Given the description of an element on the screen output the (x, y) to click on. 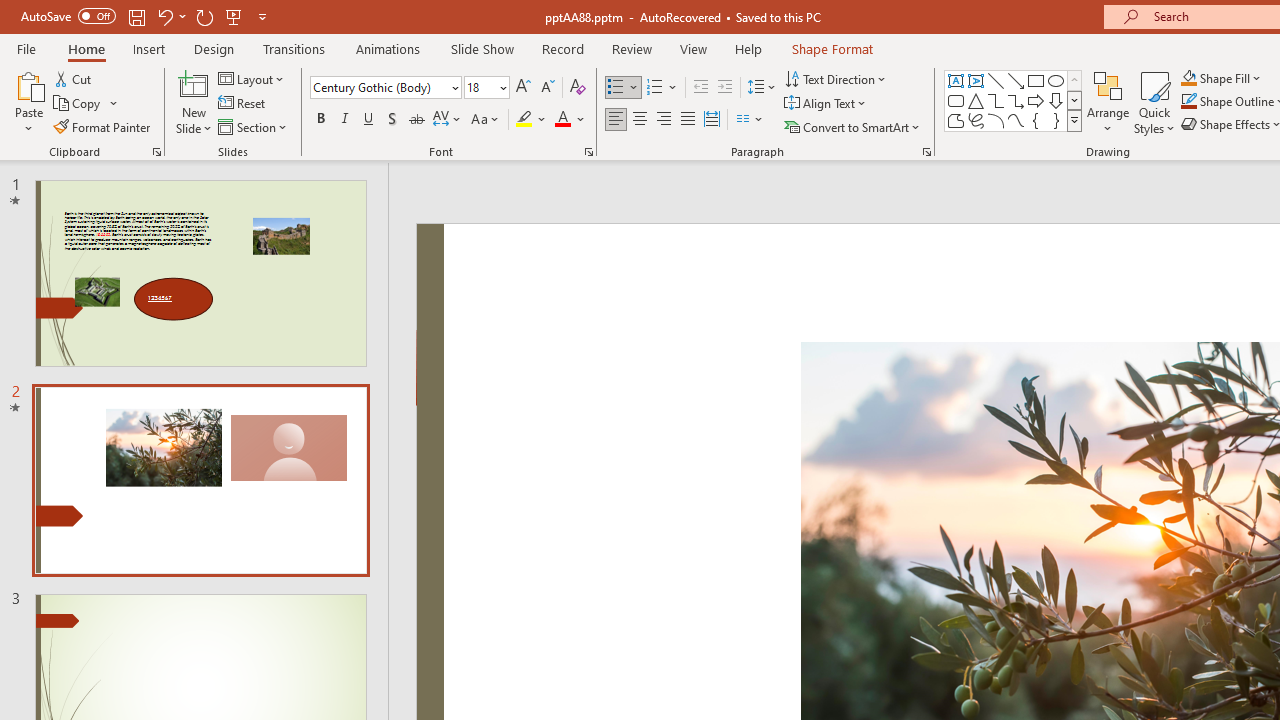
Shape Fill Aqua, Accent 2 (1188, 78)
Left Brace (1035, 120)
Align Text (826, 103)
Paste (28, 84)
Shape Fill (1221, 78)
Justify (687, 119)
Oval (1055, 80)
Center (639, 119)
Numbering (654, 87)
Change Case (486, 119)
Italic (344, 119)
New Slide (193, 84)
Reset (243, 103)
Align Right (663, 119)
